Given the description of an element on the screen output the (x, y) to click on. 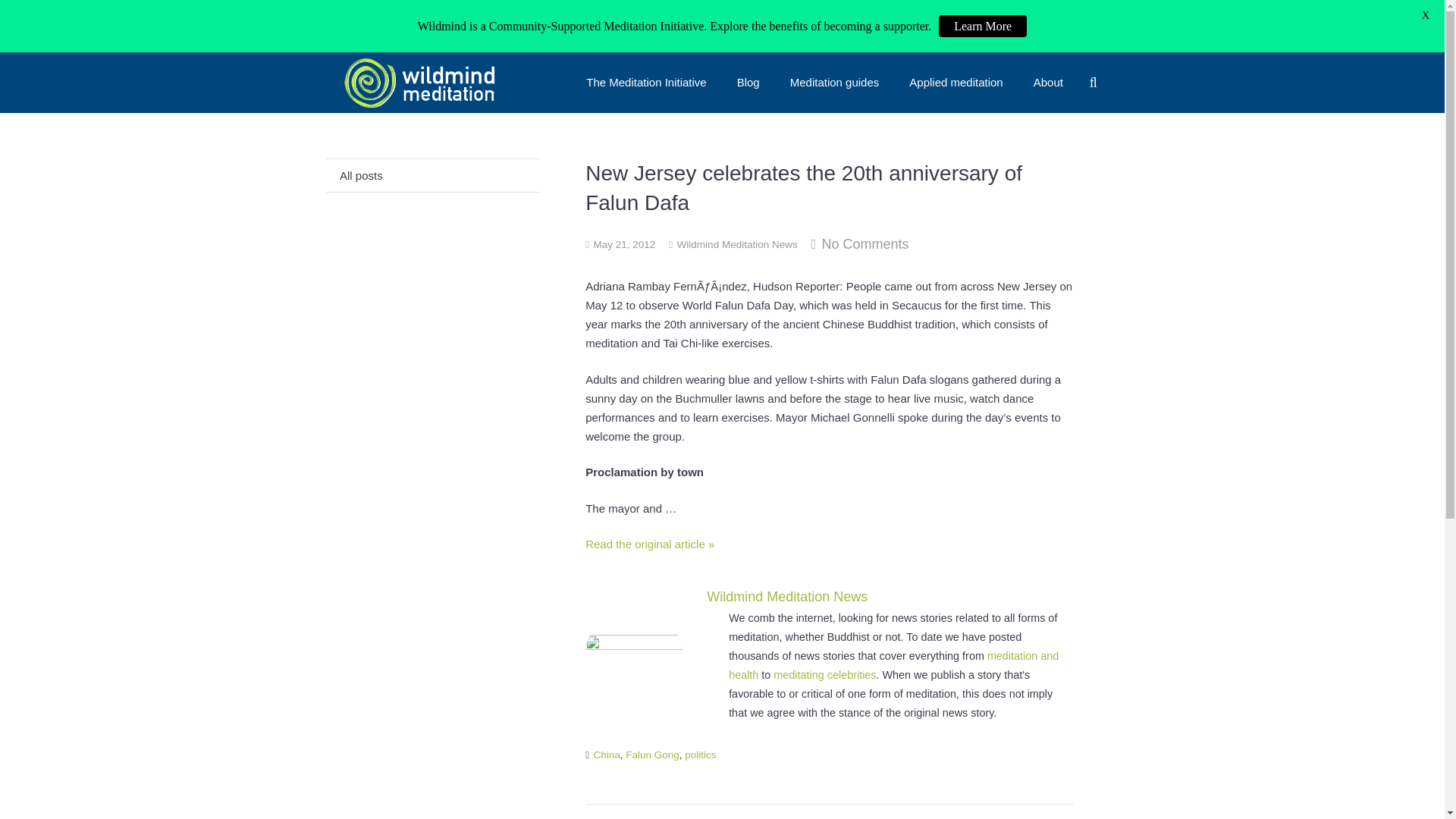
The Meditation Initiative (645, 82)
No Comments (864, 243)
All posts (433, 174)
Meditation guides (834, 82)
